Given the description of an element on the screen output the (x, y) to click on. 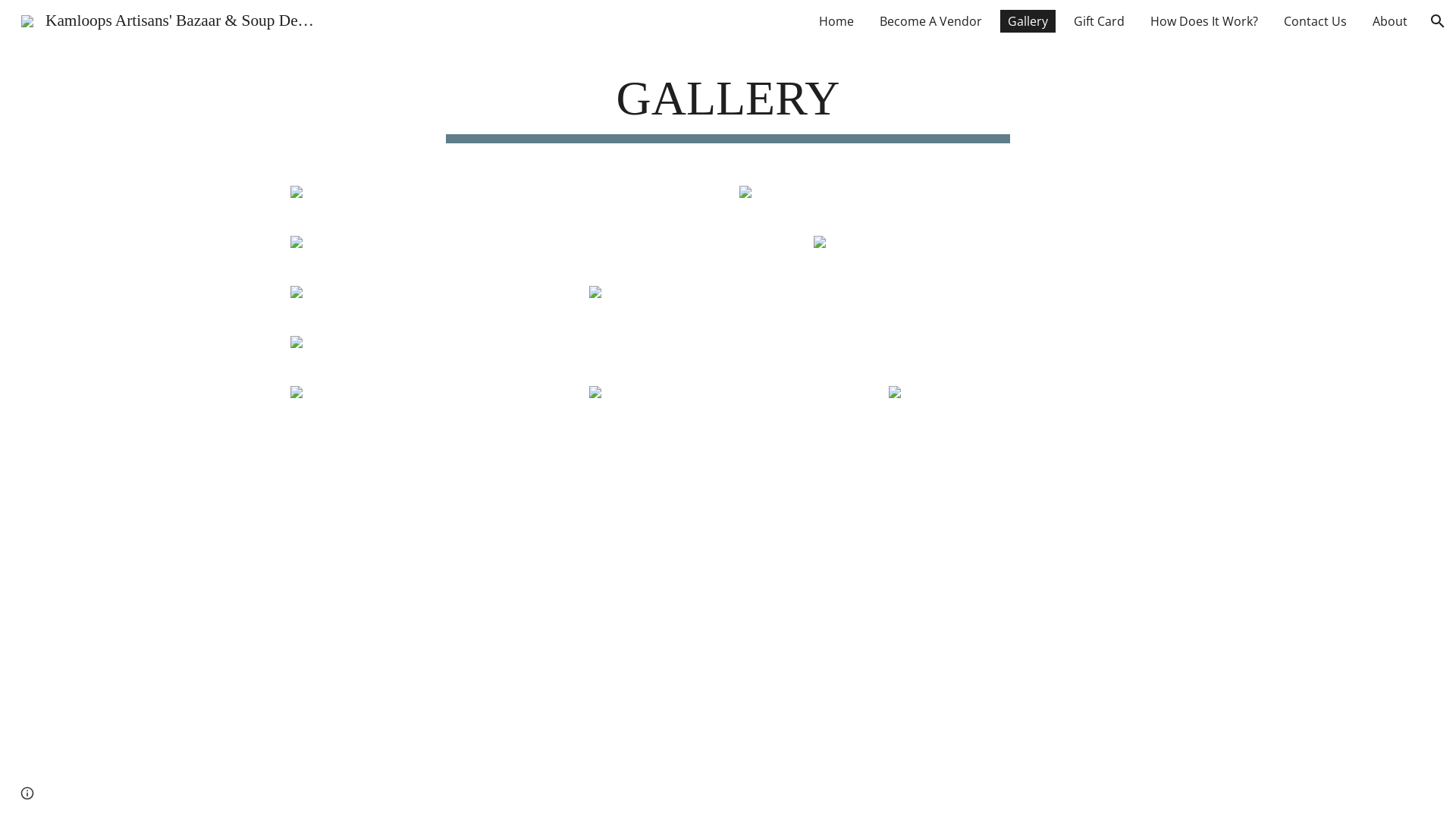
Gift Card Element type: text (1099, 20)
Gallery Element type: text (1027, 20)
Home Element type: text (836, 20)
About Element type: text (1390, 20)
Contact Us Element type: text (1315, 20)
Kamloops Artisans' Bazaar & Soup Desire Cafe Element type: text (168, 19)
How Does It Work? Element type: text (1203, 20)
Become A Vendor Element type: text (930, 20)
